Given the description of an element on the screen output the (x, y) to click on. 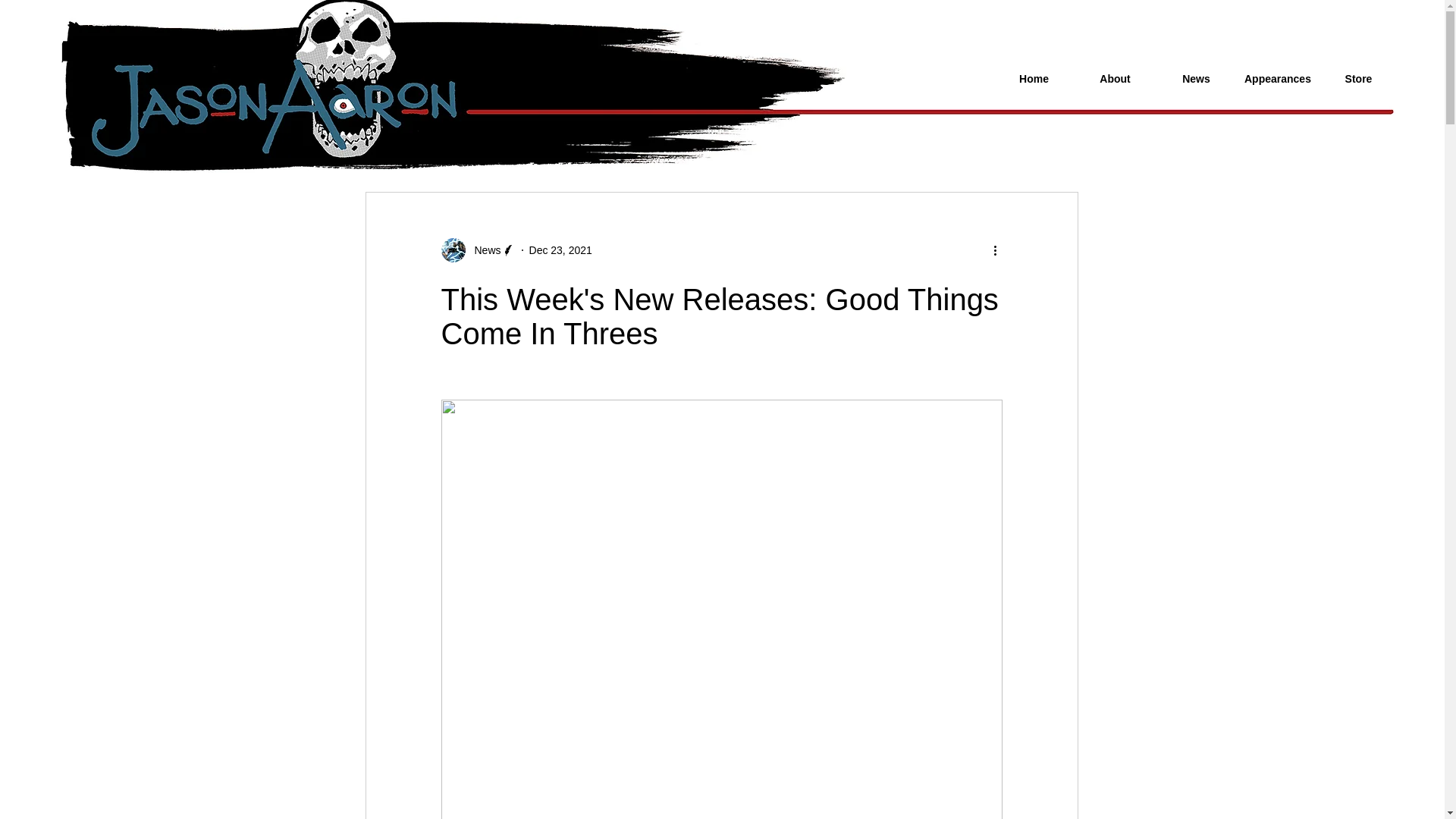
News (482, 250)
Dec 23, 2021 (560, 250)
News (1196, 79)
Store (1358, 79)
News (478, 250)
Home (1033, 79)
Appearances (1276, 79)
About (1115, 79)
